Given the description of an element on the screen output the (x, y) to click on. 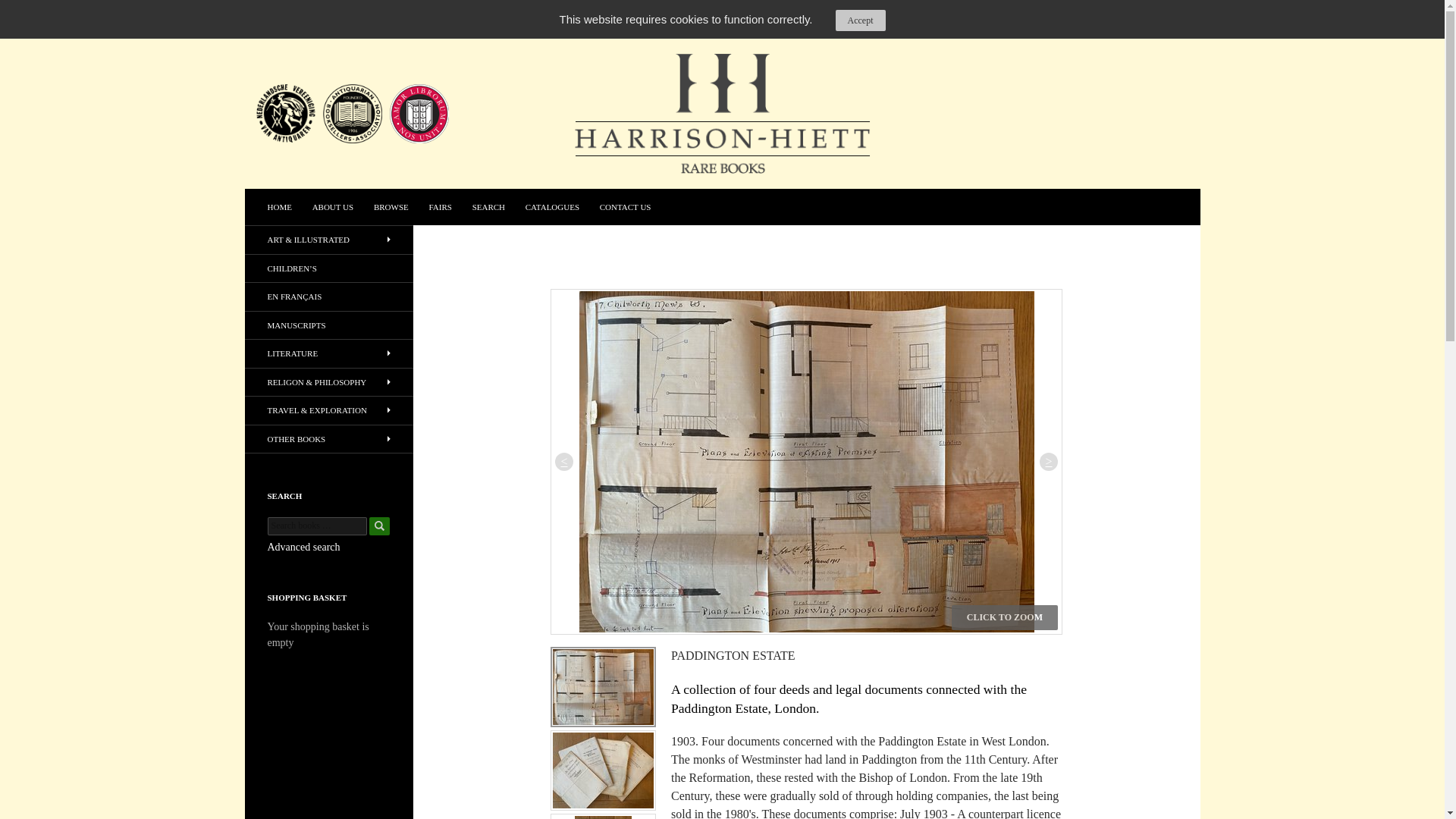
SEARCH (488, 207)
ABOUT US (332, 207)
BROWSE (391, 207)
CATALOGUES (552, 207)
Next image (1048, 461)
CLICK TO ZOOM (1005, 617)
Accept (860, 20)
Previous image (563, 461)
CONTACT US (626, 207)
